Given the description of an element on the screen output the (x, y) to click on. 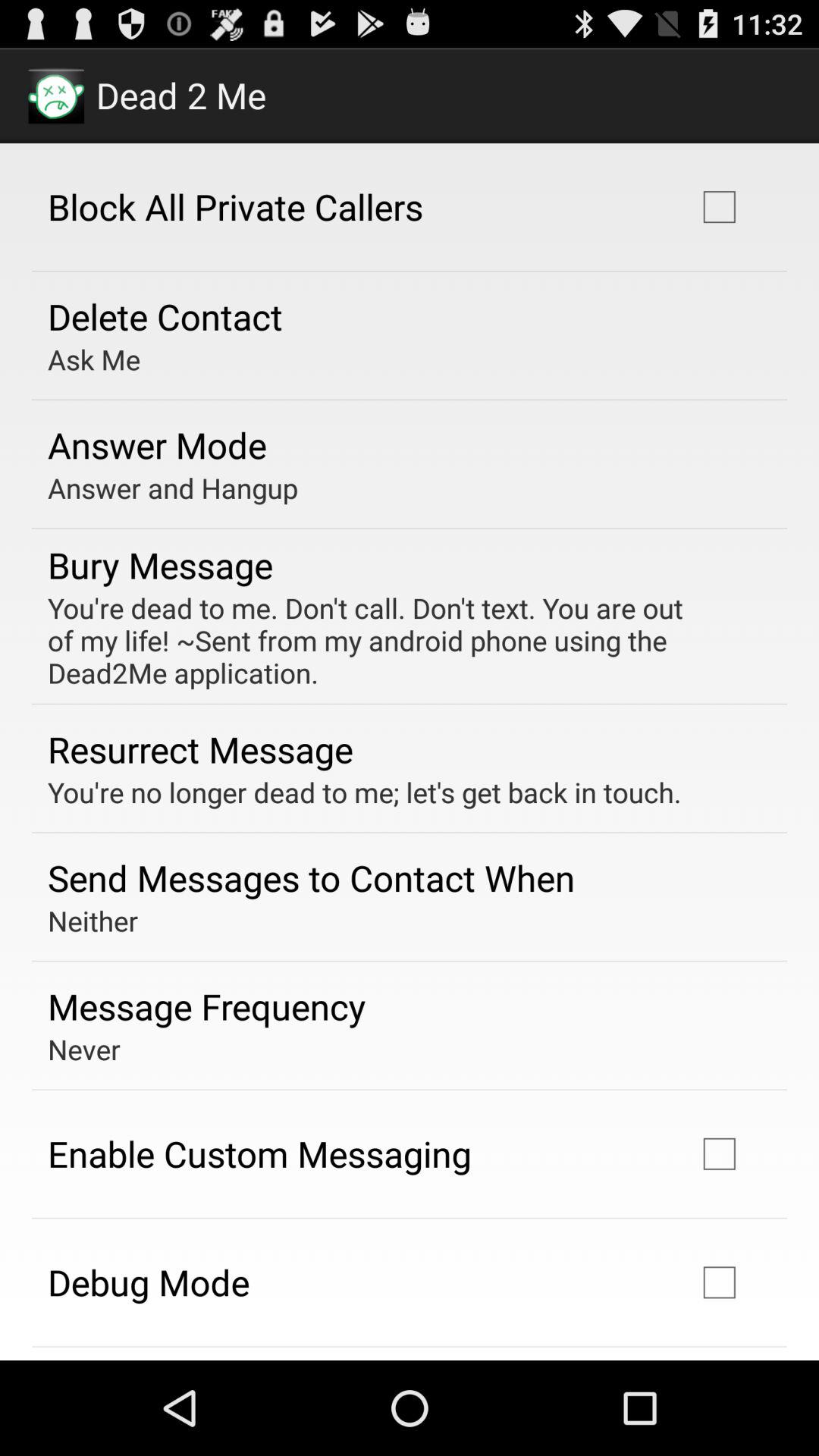
open the item below send messages to item (92, 920)
